Given the description of an element on the screen output the (x, y) to click on. 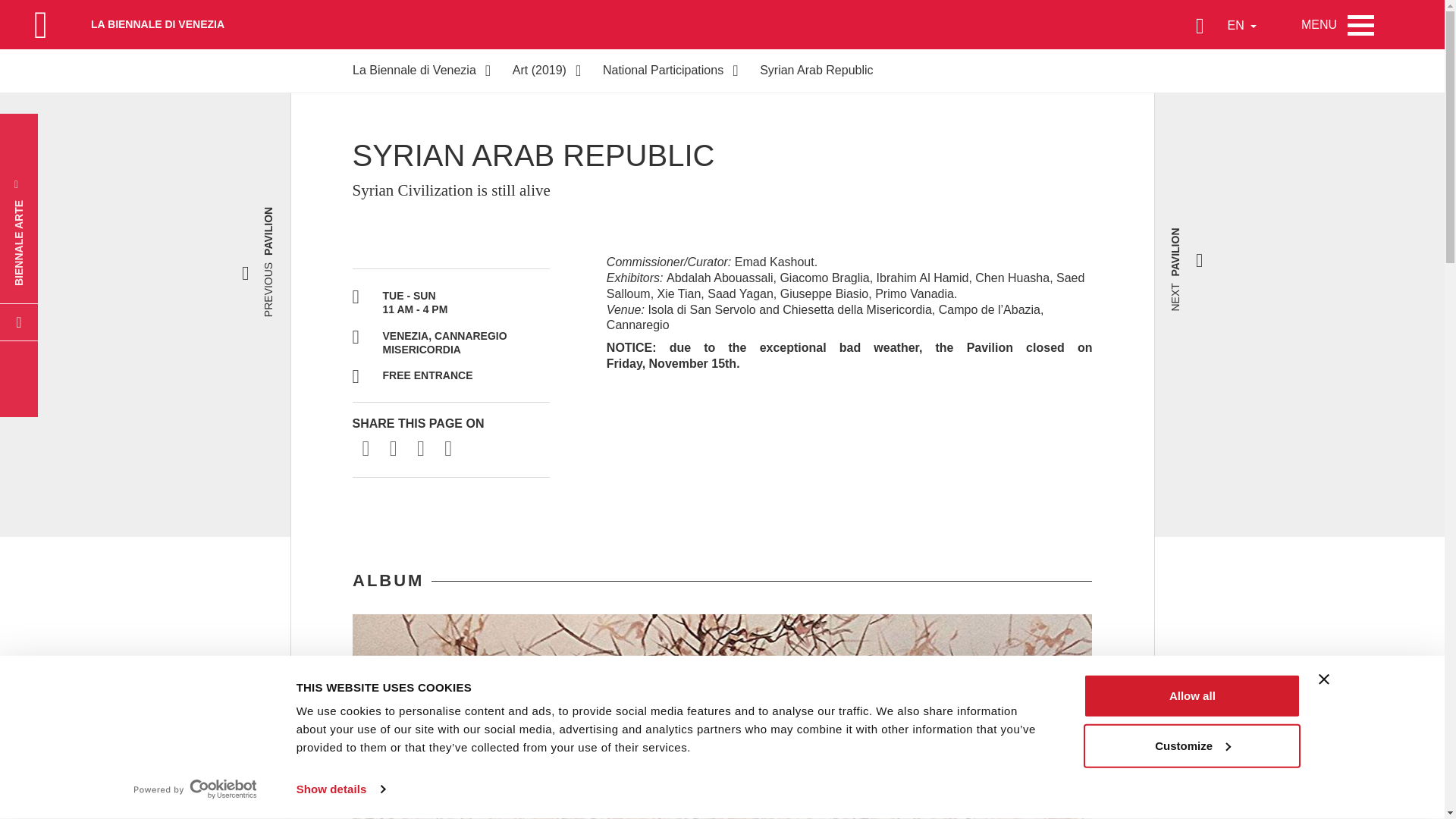
Customize (1191, 745)
Show details (340, 789)
Allow all (1191, 696)
